Given the description of an element on the screen output the (x, y) to click on. 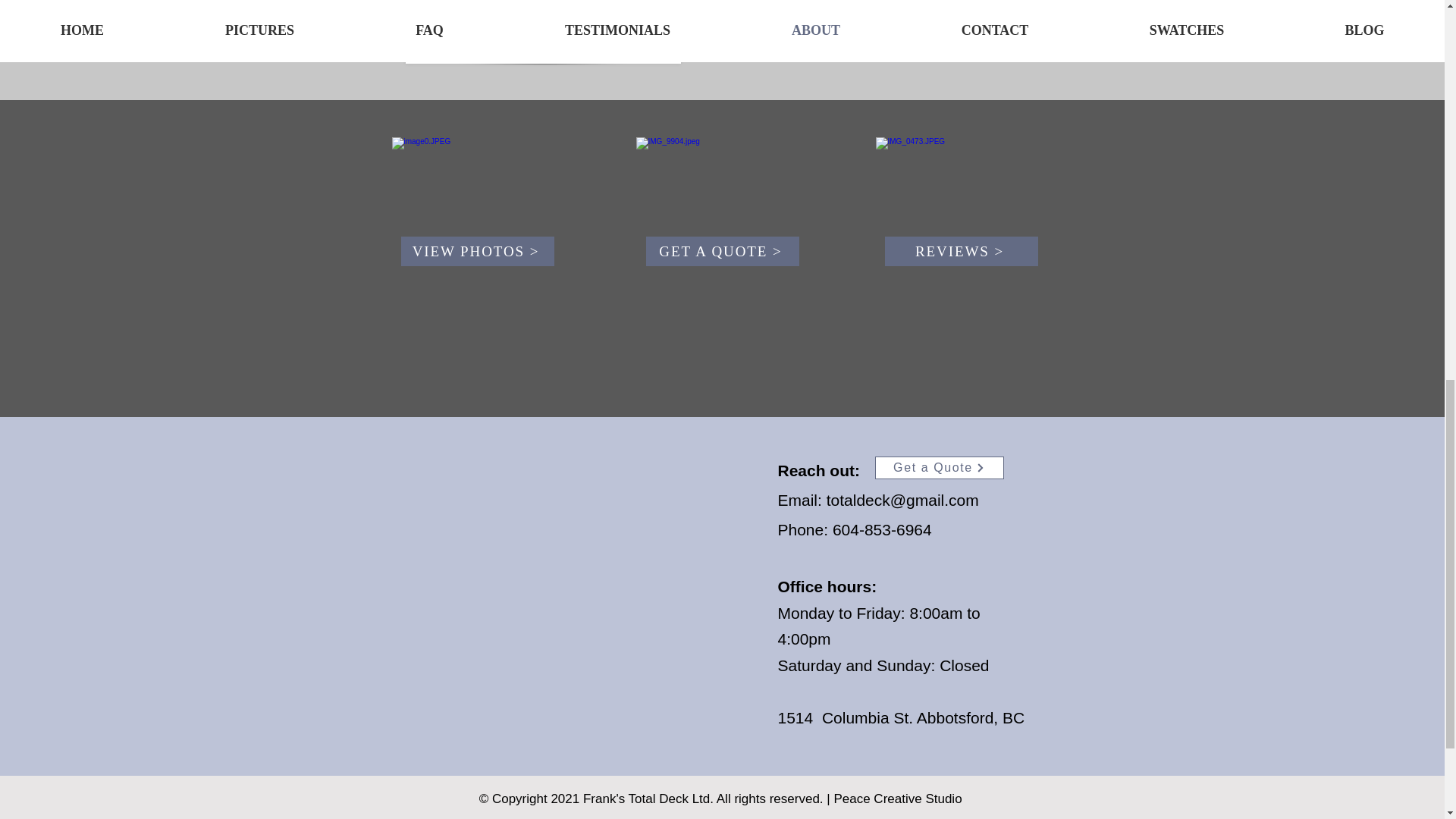
604-853-6964 (881, 529)
Get a Quote (939, 467)
Peace Creative Studio  (897, 798)
